Given the description of an element on the screen output the (x, y) to click on. 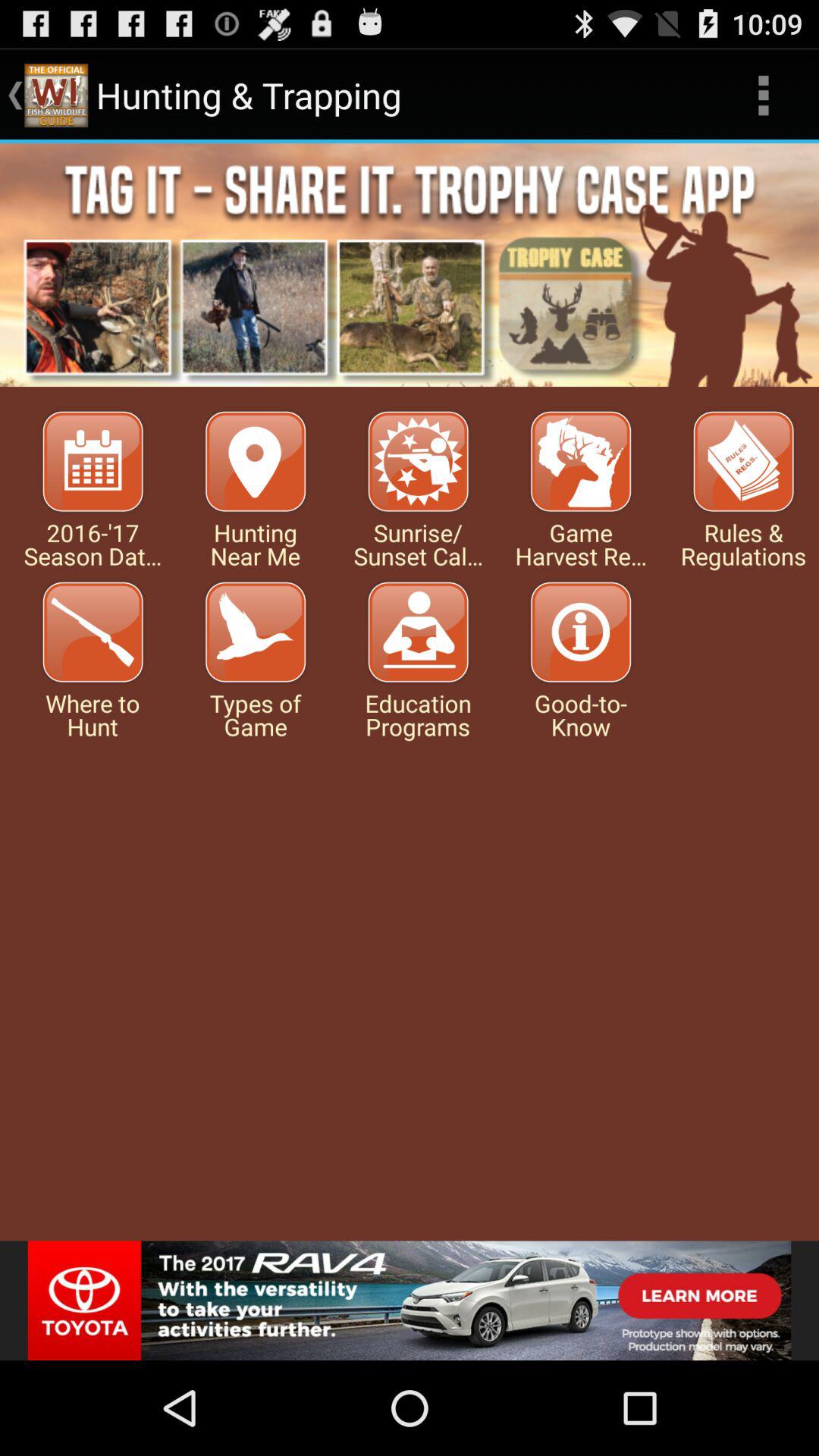
advertisement page (409, 1300)
